Given the description of an element on the screen output the (x, y) to click on. 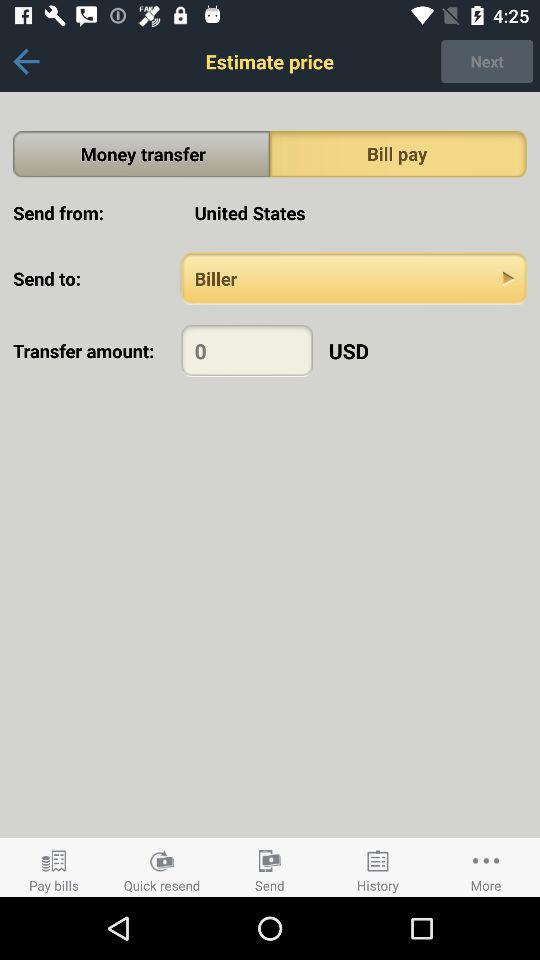
go back (26, 61)
